Given the description of an element on the screen output the (x, y) to click on. 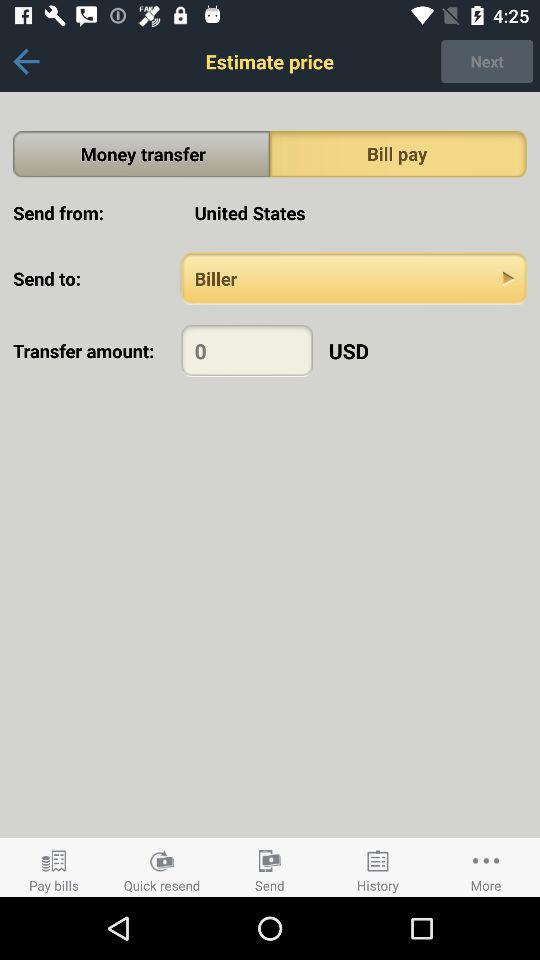
go back (26, 61)
